Given the description of an element on the screen output the (x, y) to click on. 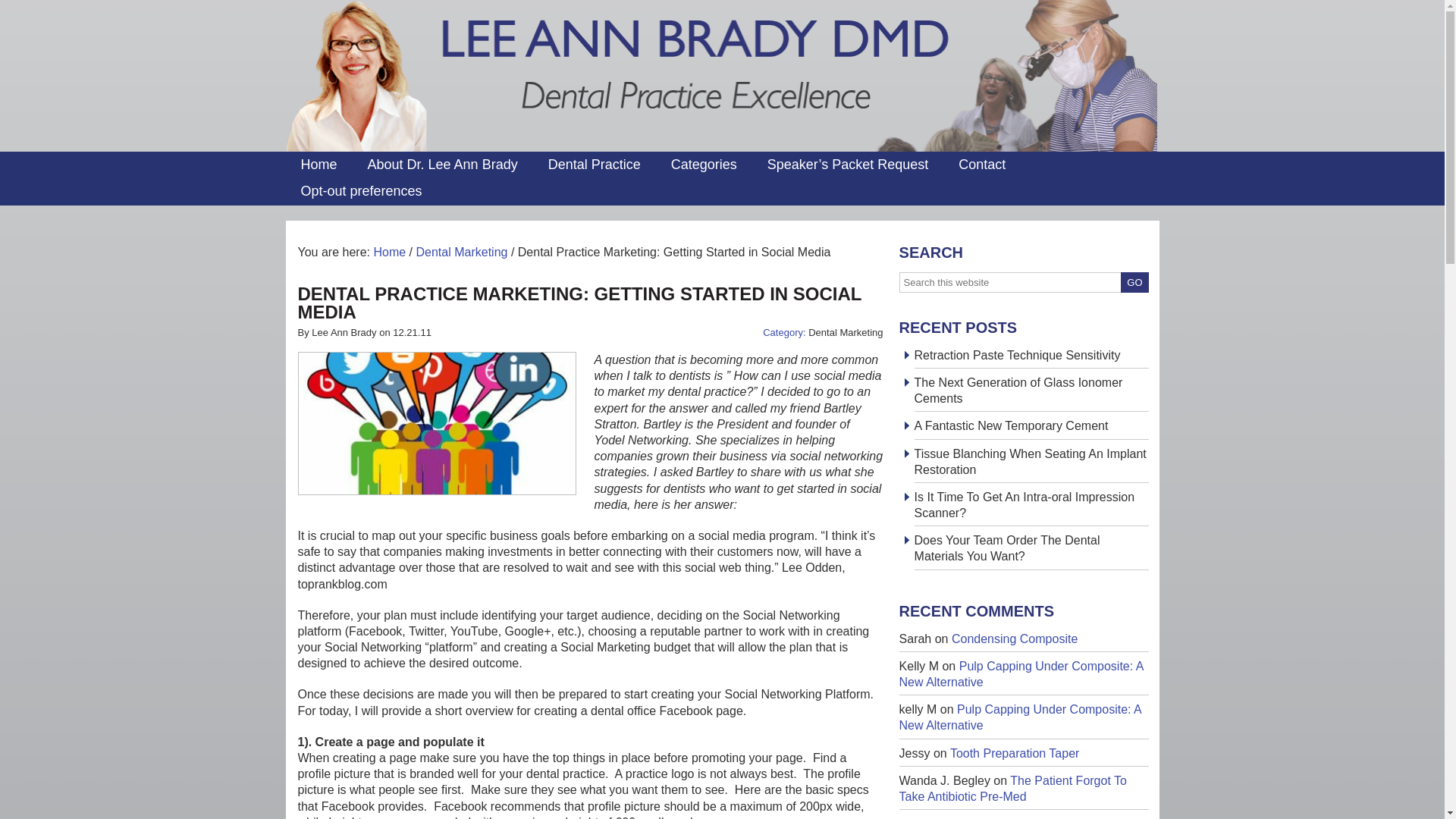
A Fantastic New Temporary Cement (1011, 425)
Retraction Paste Technique Sensitivity (1017, 354)
GO (1134, 281)
Dental Marketing (845, 332)
Dental Practice (594, 164)
Home (318, 164)
GO (1134, 281)
Categories (704, 164)
Tissue Blanching When Seating An Implant Restoration (1030, 461)
Is It Time To Get An Intra-oral Impression Scanner? (1024, 504)
Condensing Composite (1014, 638)
Dental Marketing (460, 251)
The Next Generation of Glass Ionomer Cements (1018, 389)
Home (389, 251)
GO (1134, 281)
